Given the description of an element on the screen output the (x, y) to click on. 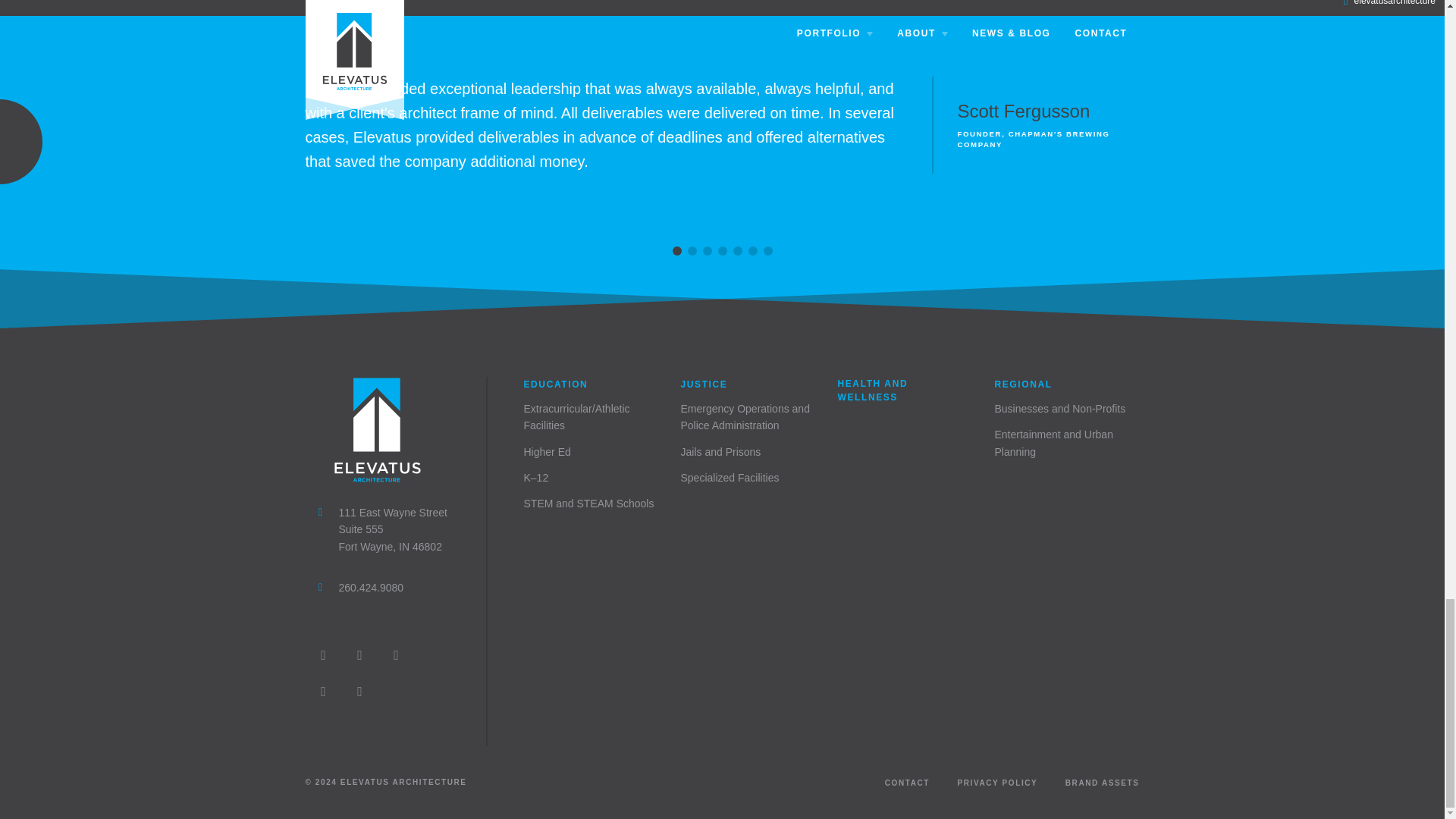
Facebook (358, 655)
LinkedIn (395, 655)
Twitter (322, 691)
YouTube (358, 691)
Instagram (322, 655)
